Given the description of an element on the screen output the (x, y) to click on. 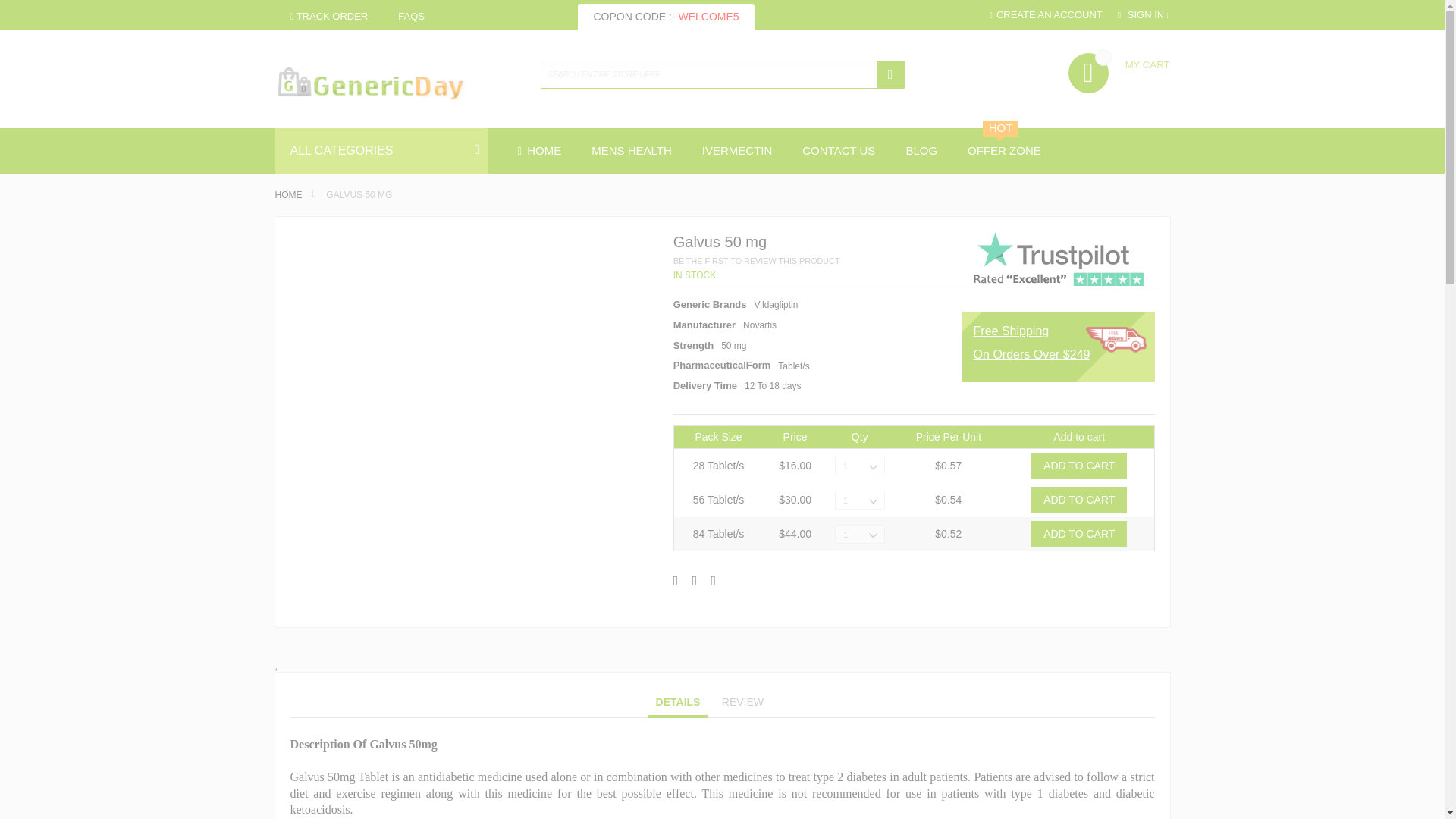
copon code (666, 17)
TRACK ORDER (328, 16)
Gourmet Store (410, 16)
CREATE AN ACCOUNT (1045, 15)
FAQS (410, 16)
COPON CODE :- WELCOME5 (666, 17)
Add to Cart (1078, 499)
Search (889, 74)
Availability (694, 275)
MY CART (1119, 62)
Add to Cart (1078, 465)
Gourmet Store (328, 16)
Add to Cart (1078, 533)
Go to Home Page (288, 194)
SEARCH (889, 74)
